Given the description of an element on the screen output the (x, y) to click on. 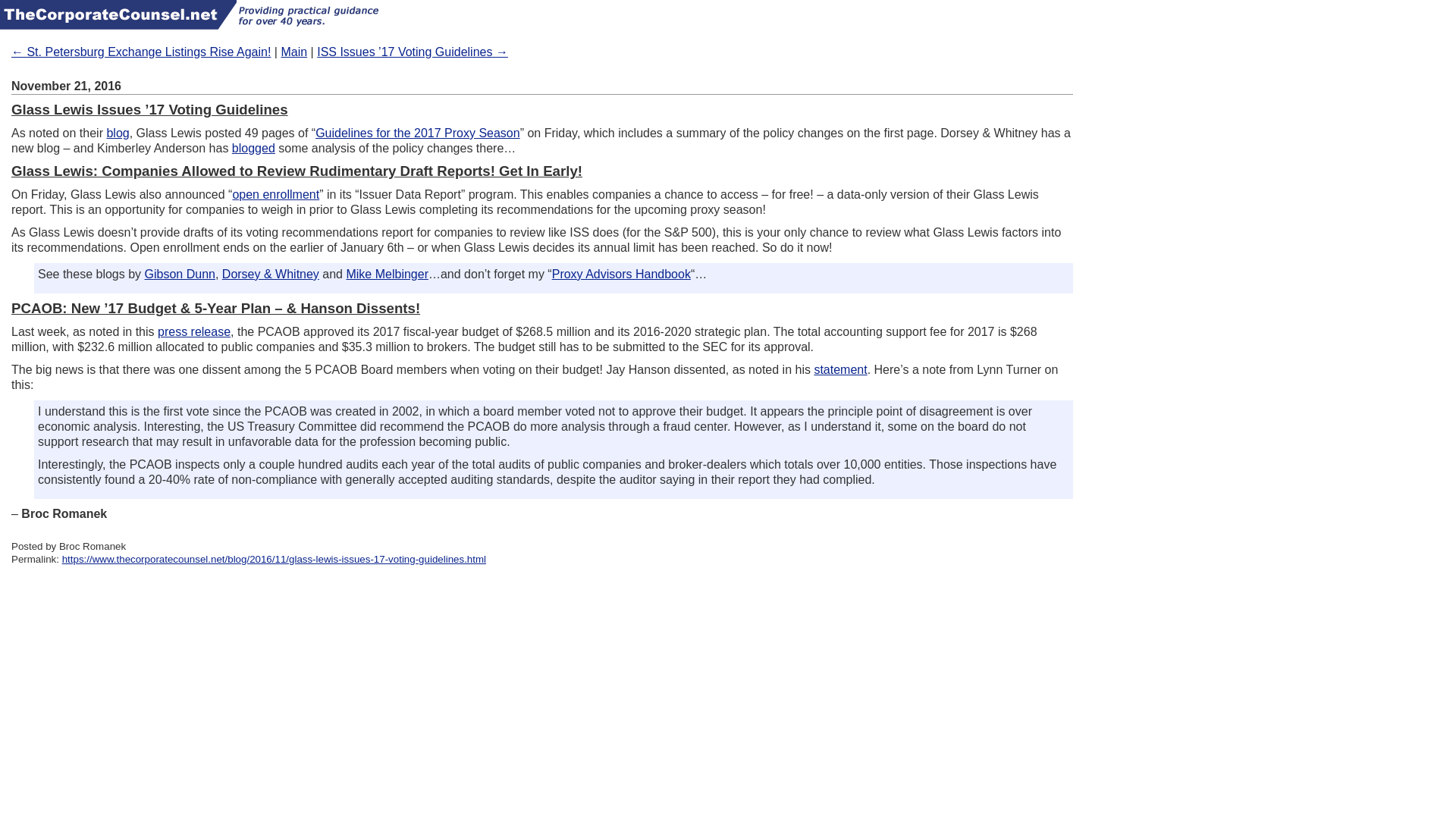
blog (117, 132)
Gibson Dunn (179, 273)
Main (294, 51)
Proxy Advisors Handbook (620, 273)
TheCorporateCounsel.net (117, 14)
blogged (253, 147)
Guidelines for the 2017 Proxy Season (417, 132)
statement (839, 369)
open enrollment (274, 194)
Mike Melbinger (387, 273)
press release (193, 331)
